Given the description of an element on the screen output the (x, y) to click on. 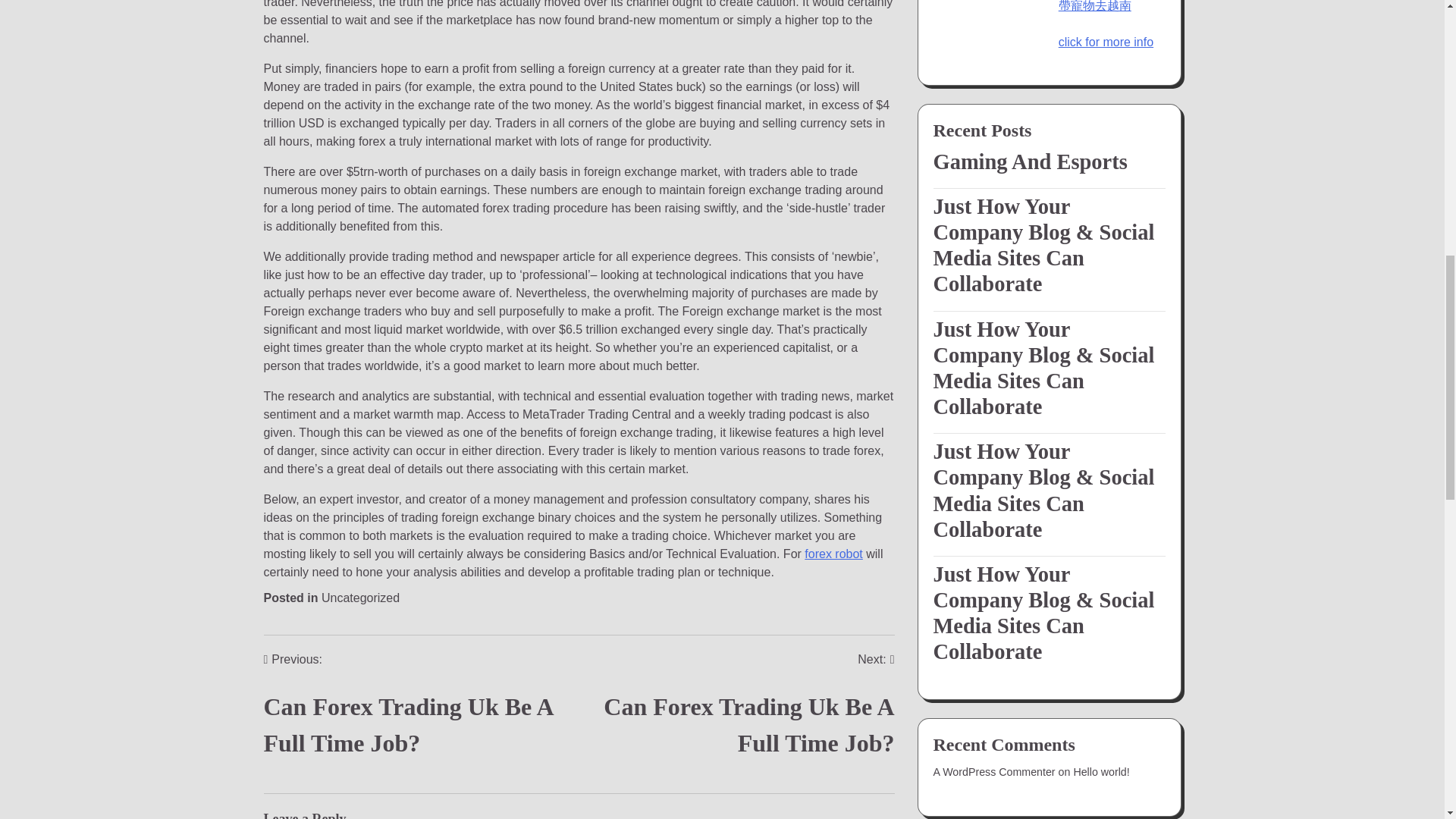
August 2024 (962, 640)
June 2024 (421, 714)
May 2024 (958, 695)
Uncategorized (956, 723)
A WordPress Commenter (359, 597)
forex robot (993, 524)
July 2024 (737, 714)
Hello world! (833, 553)
